Given the description of an element on the screen output the (x, y) to click on. 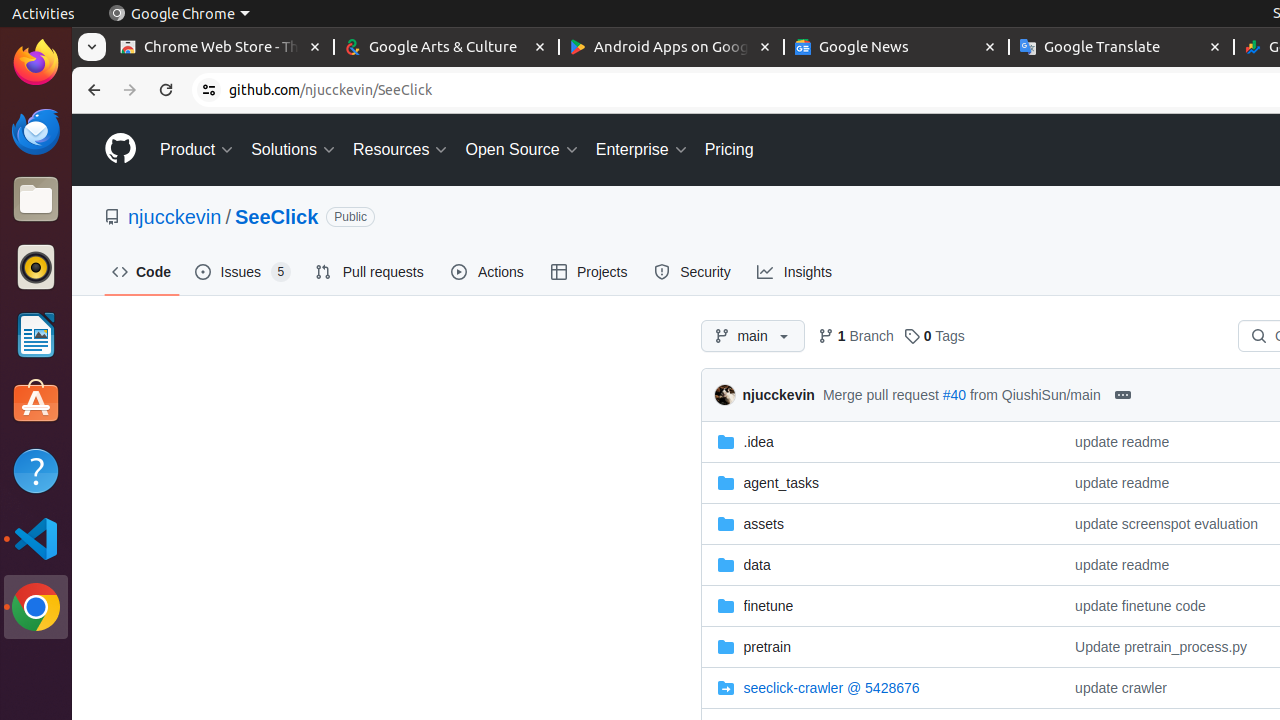
Firefox Web Browser Element type: push-button (36, 63)
Skip to content Element type: link (72, 114)
Pull requests Element type: link (371, 272)
Back Element type: push-button (91, 90)
Thunderbird Mail Element type: push-button (36, 131)
